Given the description of an element on the screen output the (x, y) to click on. 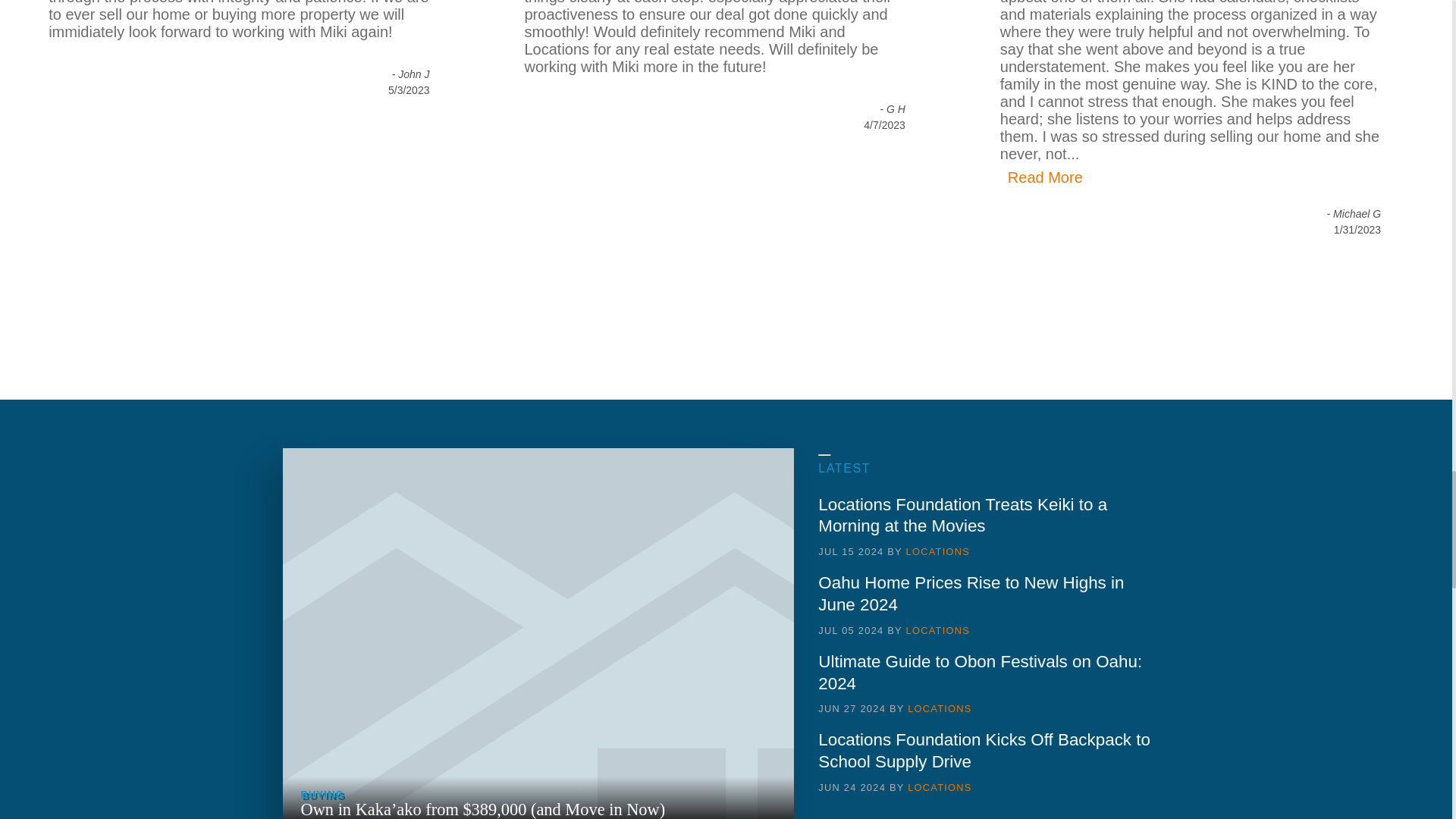
Testimonials (1048, 176)
